Given the description of an element on the screen output the (x, y) to click on. 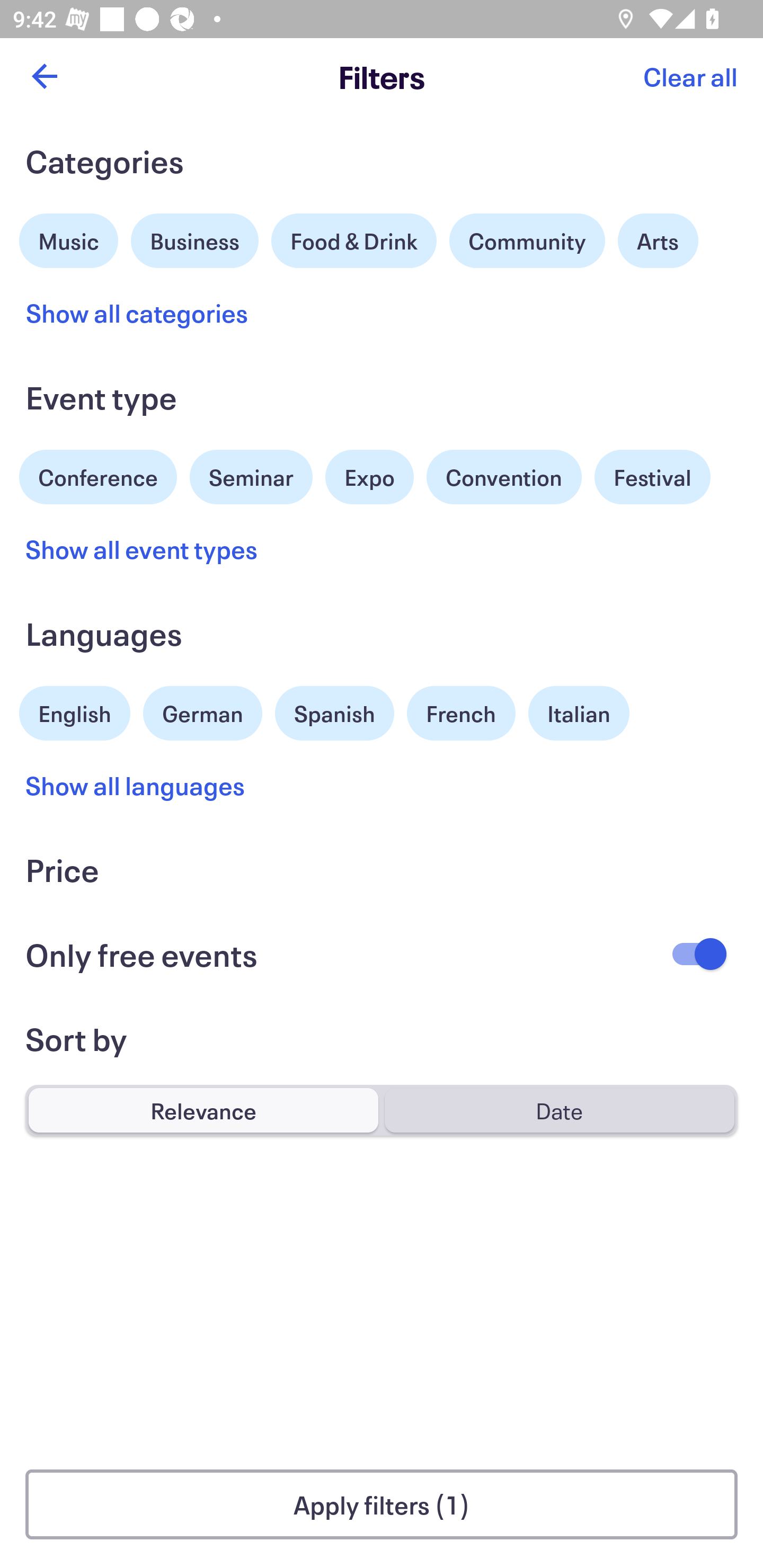
Back button (44, 75)
Clear all (690, 75)
Music (68, 238)
Business (194, 238)
Food & Drink (353, 240)
Community (527, 240)
Arts (658, 240)
Show all categories (136, 312)
Conference (98, 475)
Seminar (250, 477)
Expo (369, 477)
Convention (503, 477)
Festival (652, 477)
Show all event types (141, 548)
English (74, 710)
German (202, 710)
Spanish (334, 713)
French (460, 713)
Italian (578, 713)
Show all languages (135, 784)
Relevance (203, 1109)
Date (559, 1109)
Apply filters (1) (381, 1504)
